Given the description of an element on the screen output the (x, y) to click on. 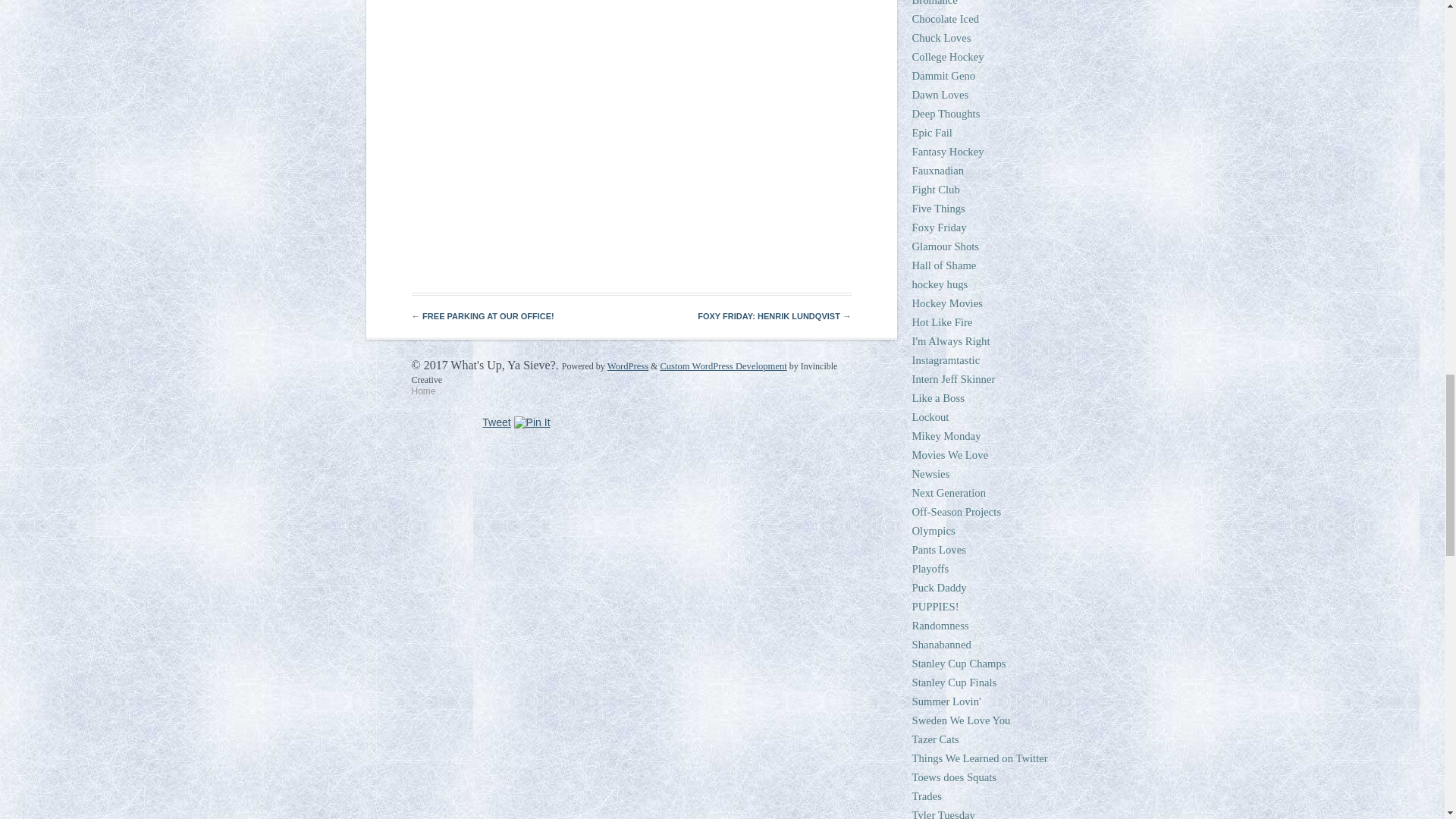
WordPress (627, 366)
Home (422, 390)
Tweet (496, 422)
Custom WordPress Development (722, 366)
